Given the description of an element on the screen output the (x, y) to click on. 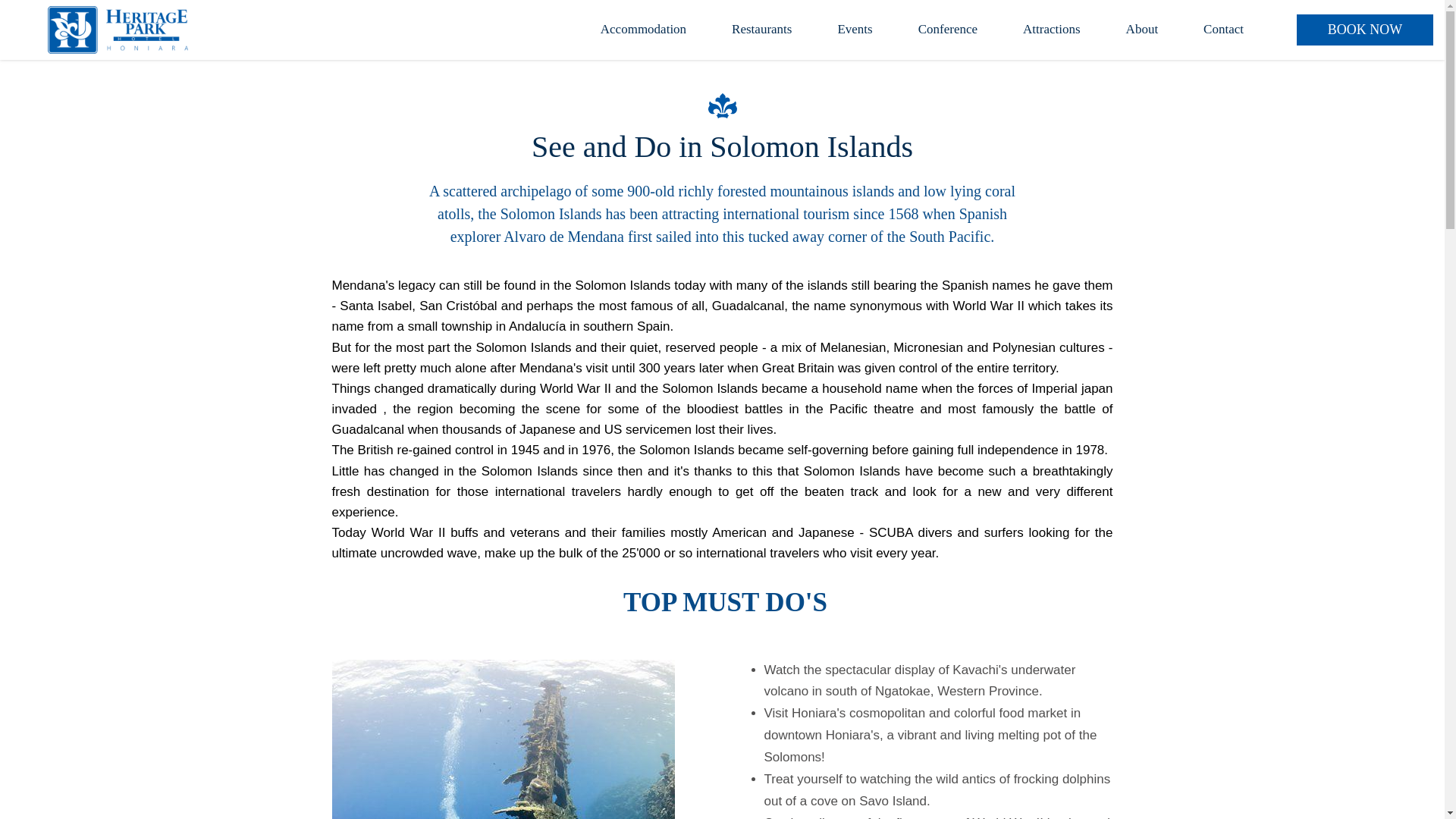
About (1141, 29)
Contact (1223, 29)
Events (854, 29)
Attractions (1051, 29)
BOOK NOW (1364, 29)
Restaurants (761, 29)
Accommodation (643, 29)
Conference (947, 29)
